Given the description of an element on the screen output the (x, y) to click on. 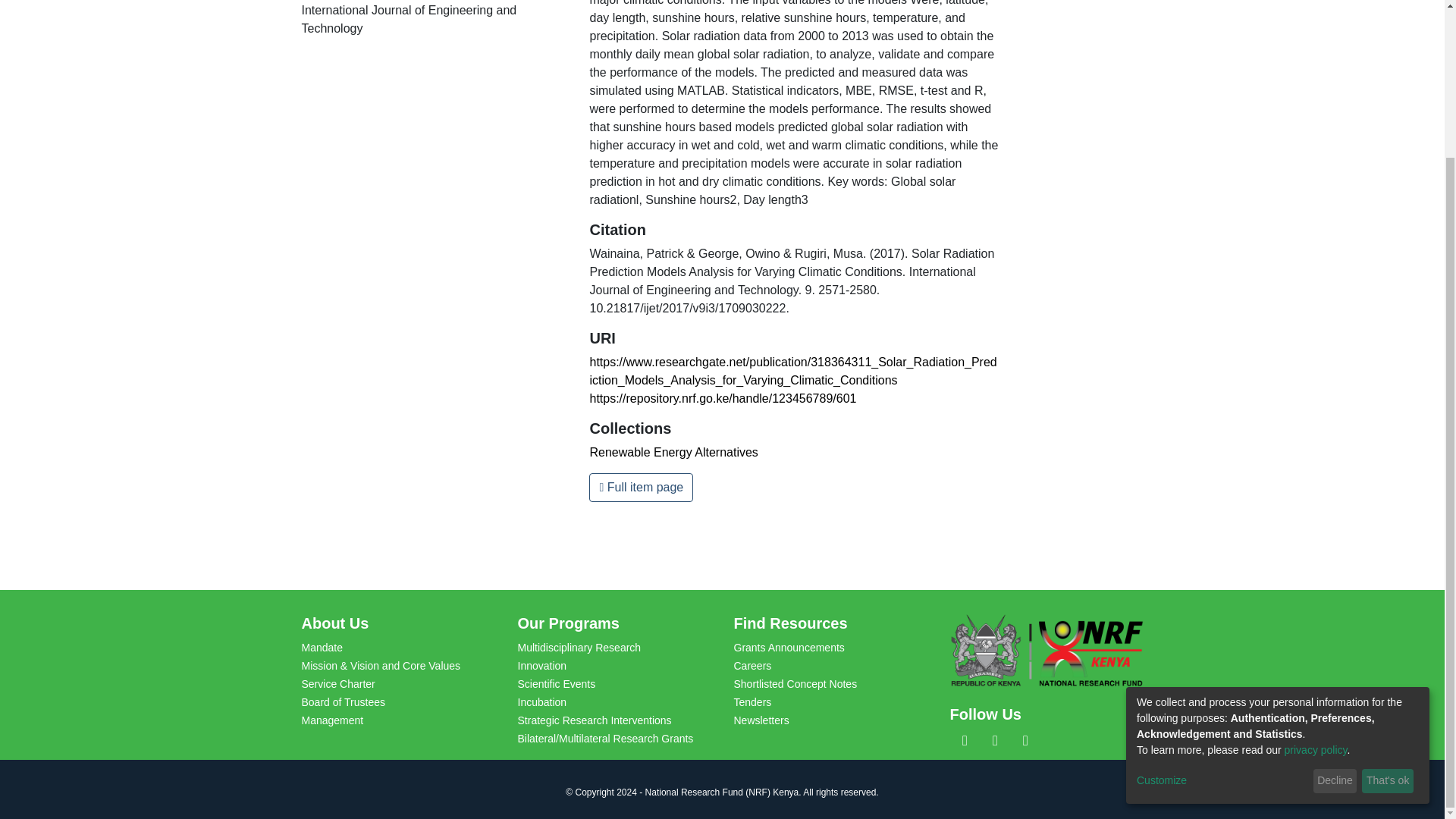
Grants Announcements (788, 647)
Full item page (641, 487)
Incubation (541, 702)
Tenders (752, 702)
Mandate (321, 647)
Renewable Energy Alternatives (673, 451)
Shortlisted Concept Notes (795, 684)
Facebook (964, 740)
Multidisciplinary Research (578, 647)
privacy policy (1316, 565)
Linkedin (995, 740)
Service Charter (338, 684)
Newsletters (761, 720)
Strategic Research Interventions (593, 720)
Innovation (541, 665)
